Given the description of an element on the screen output the (x, y) to click on. 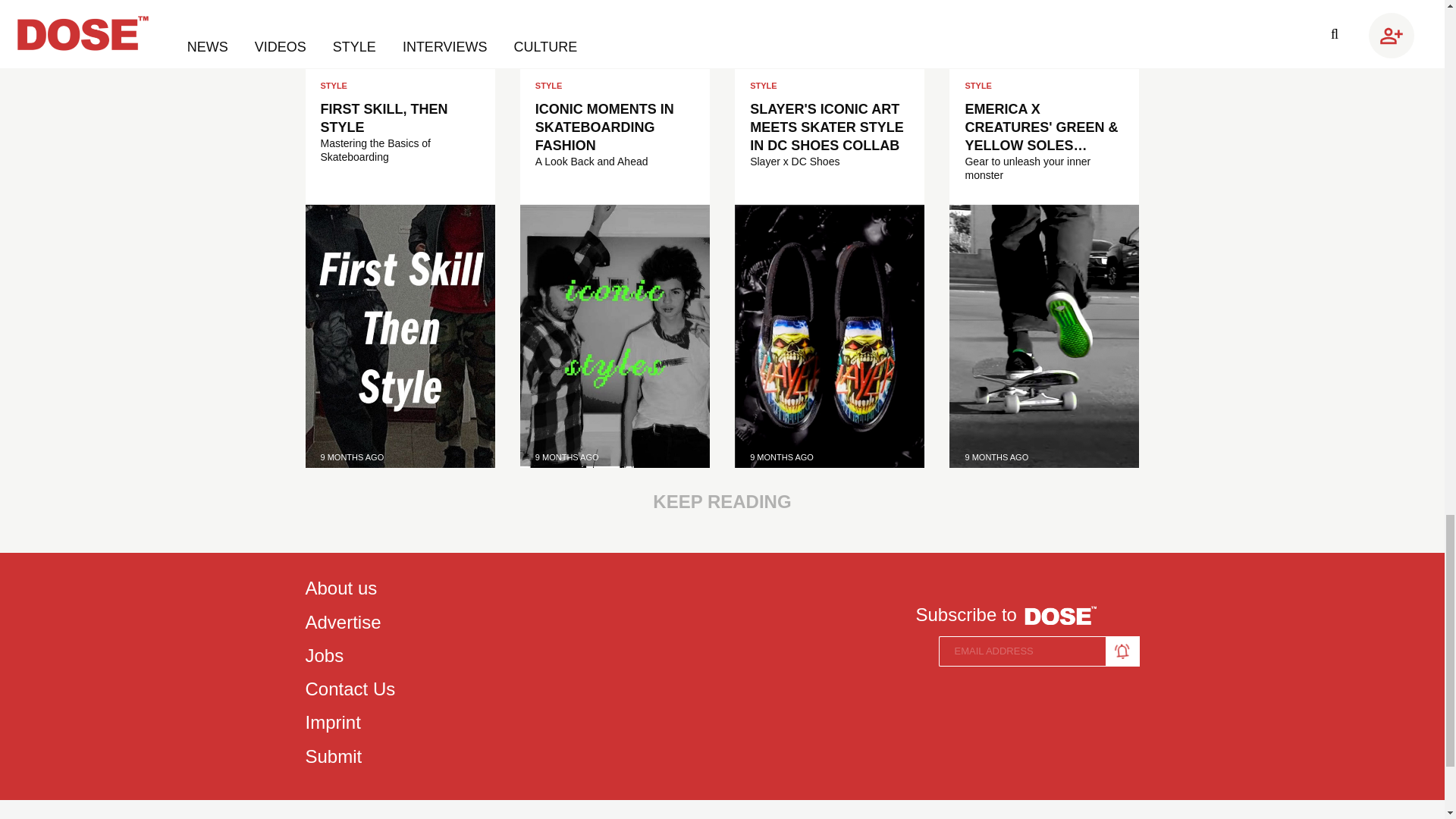
Slayer's Iconic Art Meets Skater Style in DC Shoes Collab (829, 335)
10.11.23 08:51 (352, 456)
02.11.23 13:43 (566, 456)
First Skill, Then Style (399, 117)
Load More Articles (721, 501)
Iconic Moments in Skateboarding Fashion (614, 126)
Advertise (349, 622)
About us (349, 588)
SLAYER'S ICONIC ART MEETS SKATER STYLE IN DC SHOES COLLAB (828, 126)
Slayer's Iconic Art Meets Skater Style in DC Shoes Collab (828, 126)
27.10.23 12:32 (995, 456)
FIRST SKILL, THEN STYLE (399, 117)
First Skill, Then Style (399, 335)
ICONIC MOMENTS IN SKATEBOARDING FASHION (614, 126)
KEEP READING (721, 501)
